Given the description of an element on the screen output the (x, y) to click on. 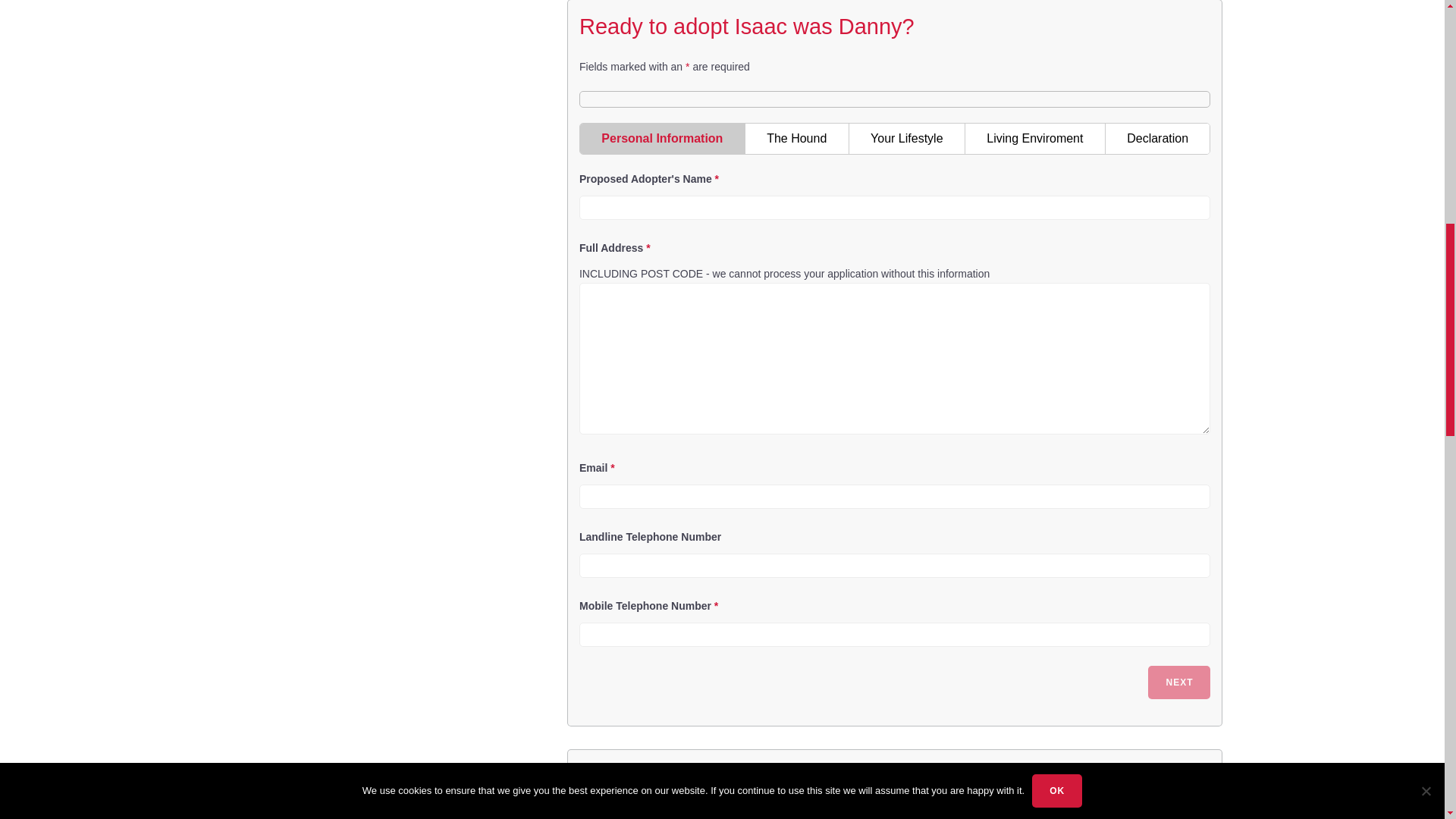
Next (1178, 682)
